Given the description of an element on the screen output the (x, y) to click on. 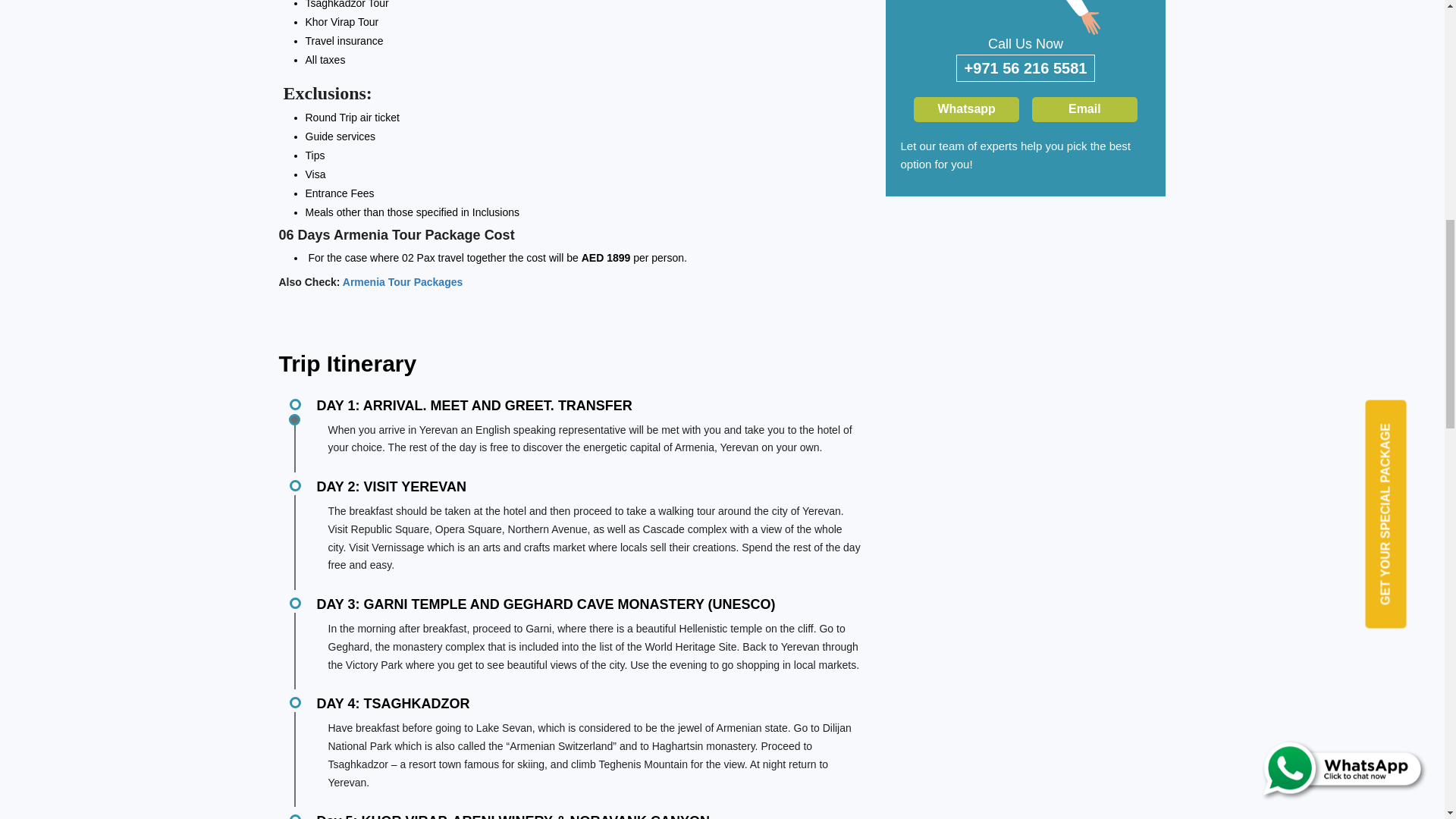
Armenia Tour Packages (402, 282)
Whatsapp (966, 109)
Email (1084, 109)
